Given the description of an element on the screen output the (x, y) to click on. 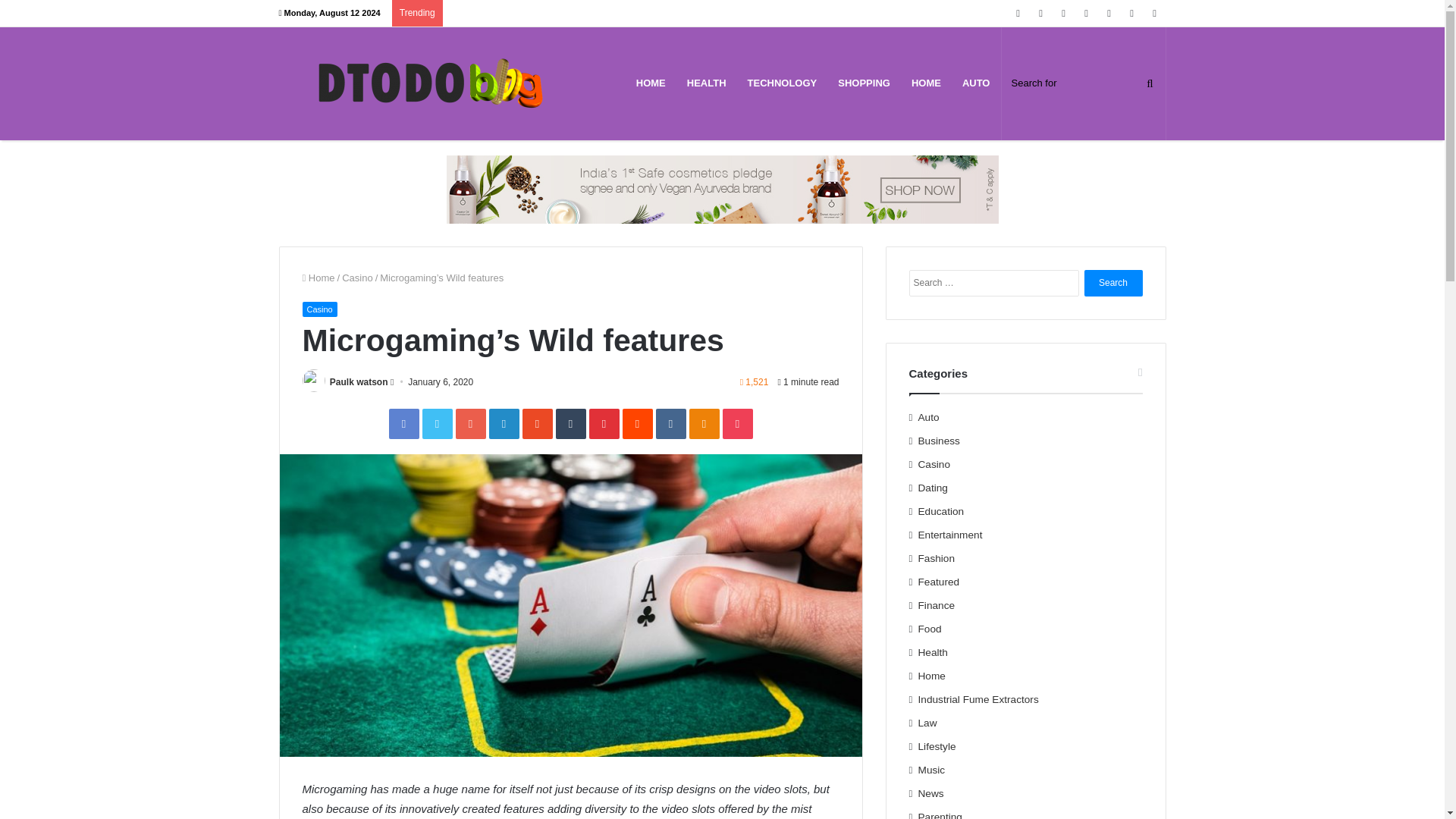
Buy Jannah Theme (721, 188)
Dtodo Blog (430, 83)
Tumblr (569, 423)
Home (317, 277)
LinkedIn (502, 423)
Search (1113, 283)
Search for (1082, 83)
Facebook (403, 423)
Casino (318, 309)
Paulk watson (359, 381)
